Given the description of an element on the screen output the (x, y) to click on. 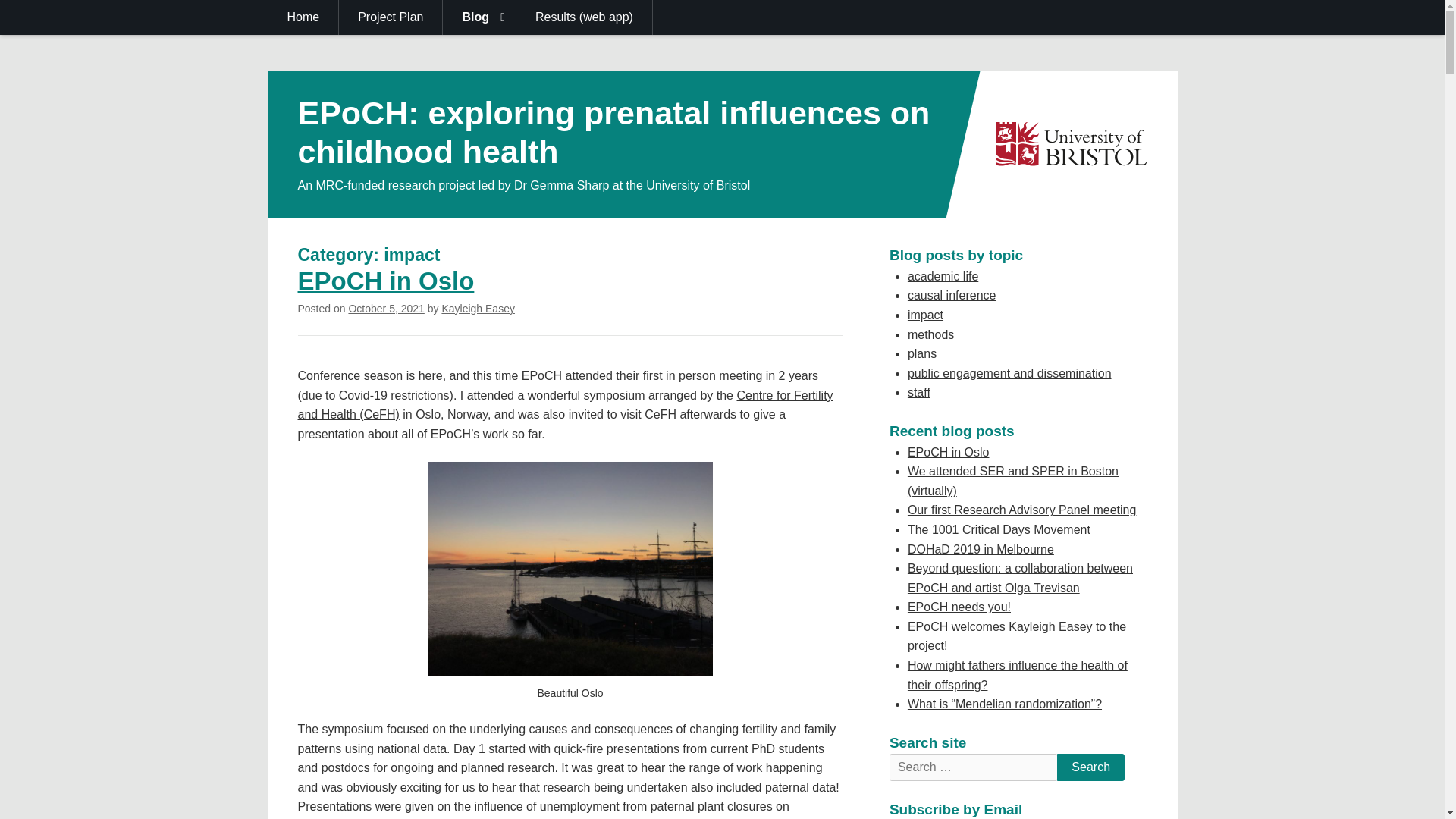
Project Plan (390, 17)
EPoCH: exploring prenatal influences on childhood health (613, 132)
Blog (479, 17)
Kayleigh Easey (478, 308)
EPoCH in Oslo (385, 280)
Search (1090, 767)
October 5, 2021 (385, 308)
Home (303, 17)
Search (1090, 767)
